Given the description of an element on the screen output the (x, y) to click on. 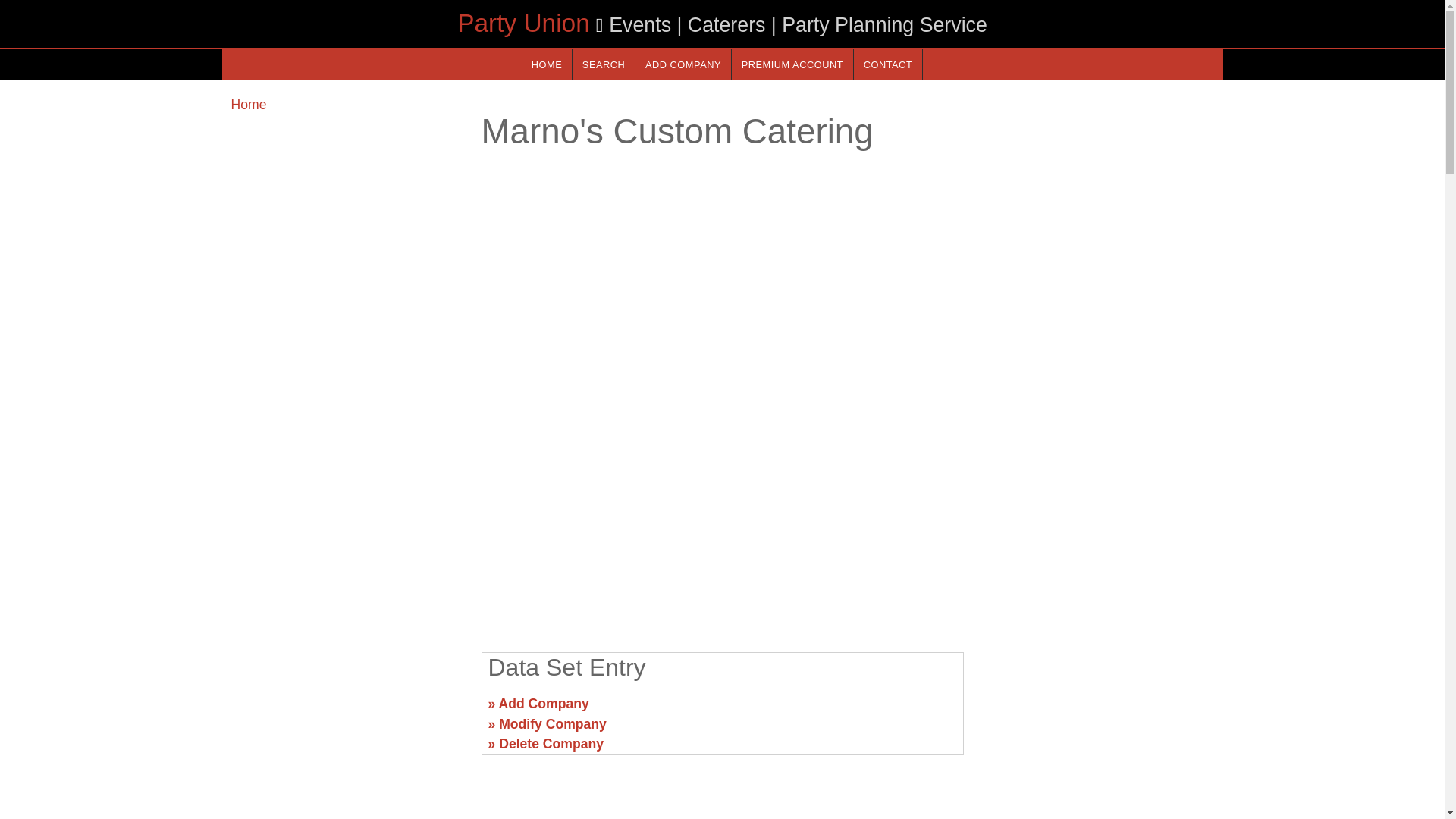
SEARCH (603, 64)
HOME (546, 64)
Party Union (523, 22)
Home (248, 104)
Premium account (792, 64)
ADD COMPANY (682, 64)
Advertisement (1096, 710)
Advertisement (346, 710)
Search in this webseite. (603, 64)
CONTACT (887, 64)
